Given the description of an element on the screen output the (x, y) to click on. 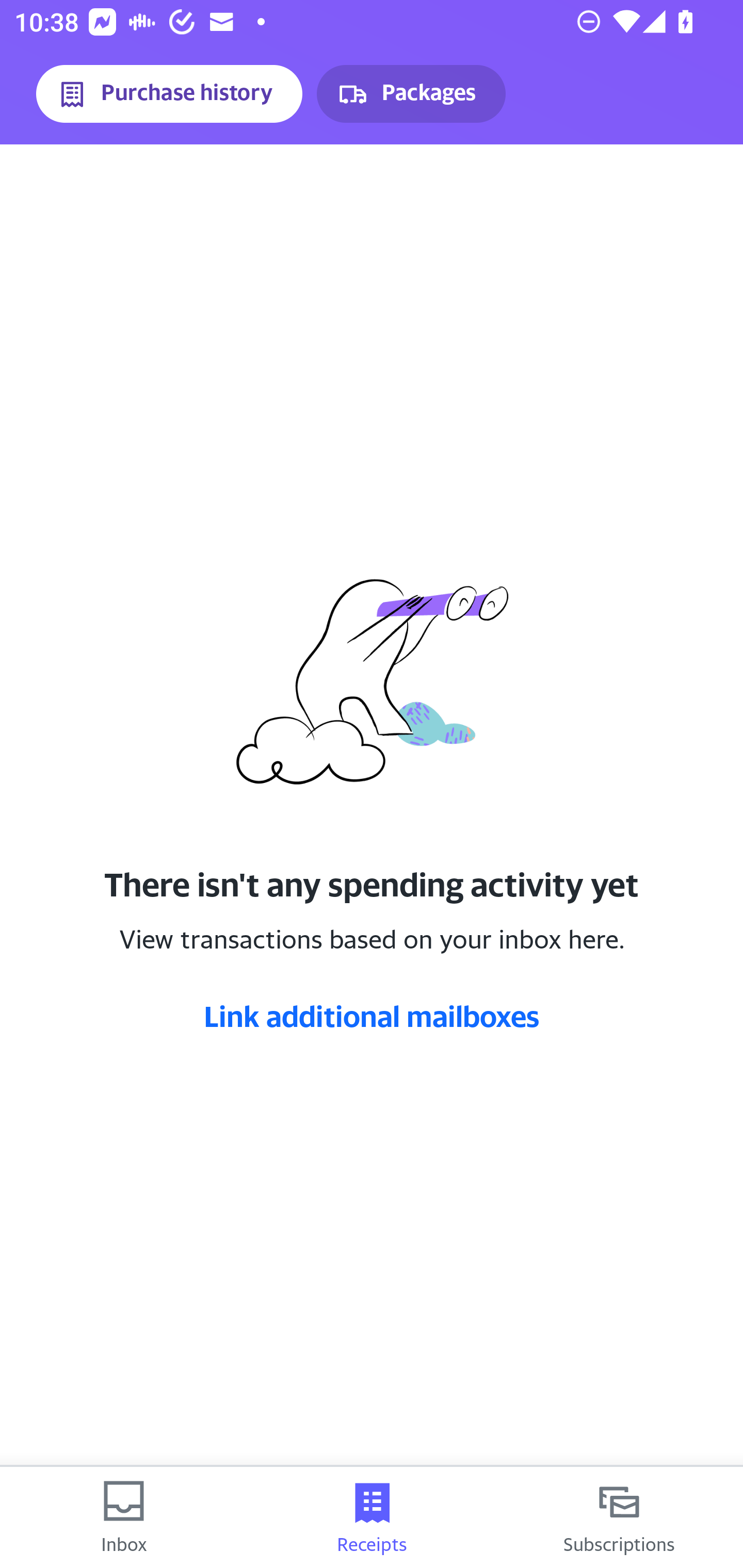
Packages (410, 93)
Link additional mailboxes (371, 1015)
Inbox (123, 1517)
Receipts (371, 1517)
Subscriptions (619, 1517)
